Given the description of an element on the screen output the (x, y) to click on. 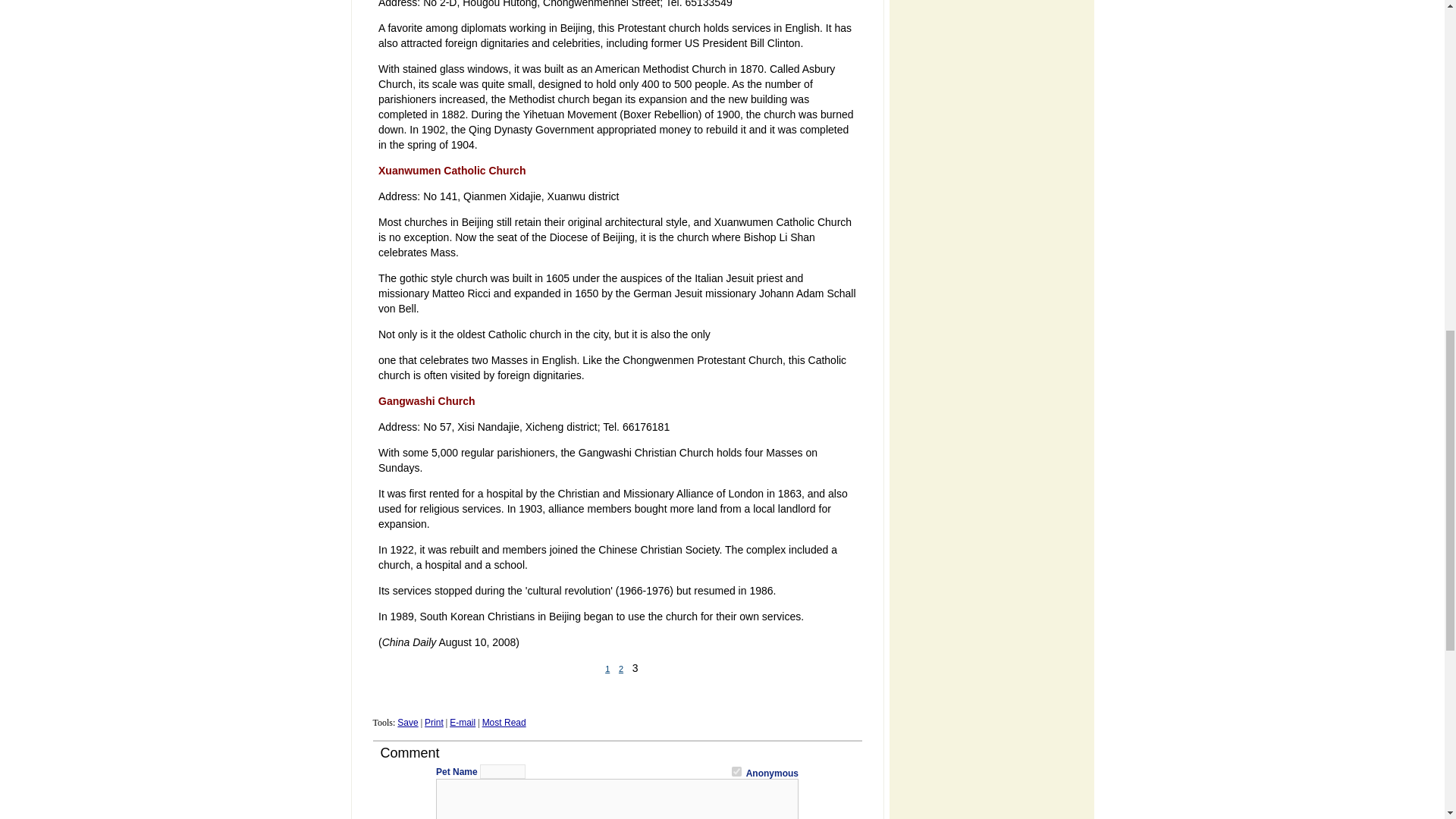
Print (434, 722)
Save (407, 722)
Most Read (503, 722)
1 (736, 771)
E-mail (462, 722)
